Given the description of an element on the screen output the (x, y) to click on. 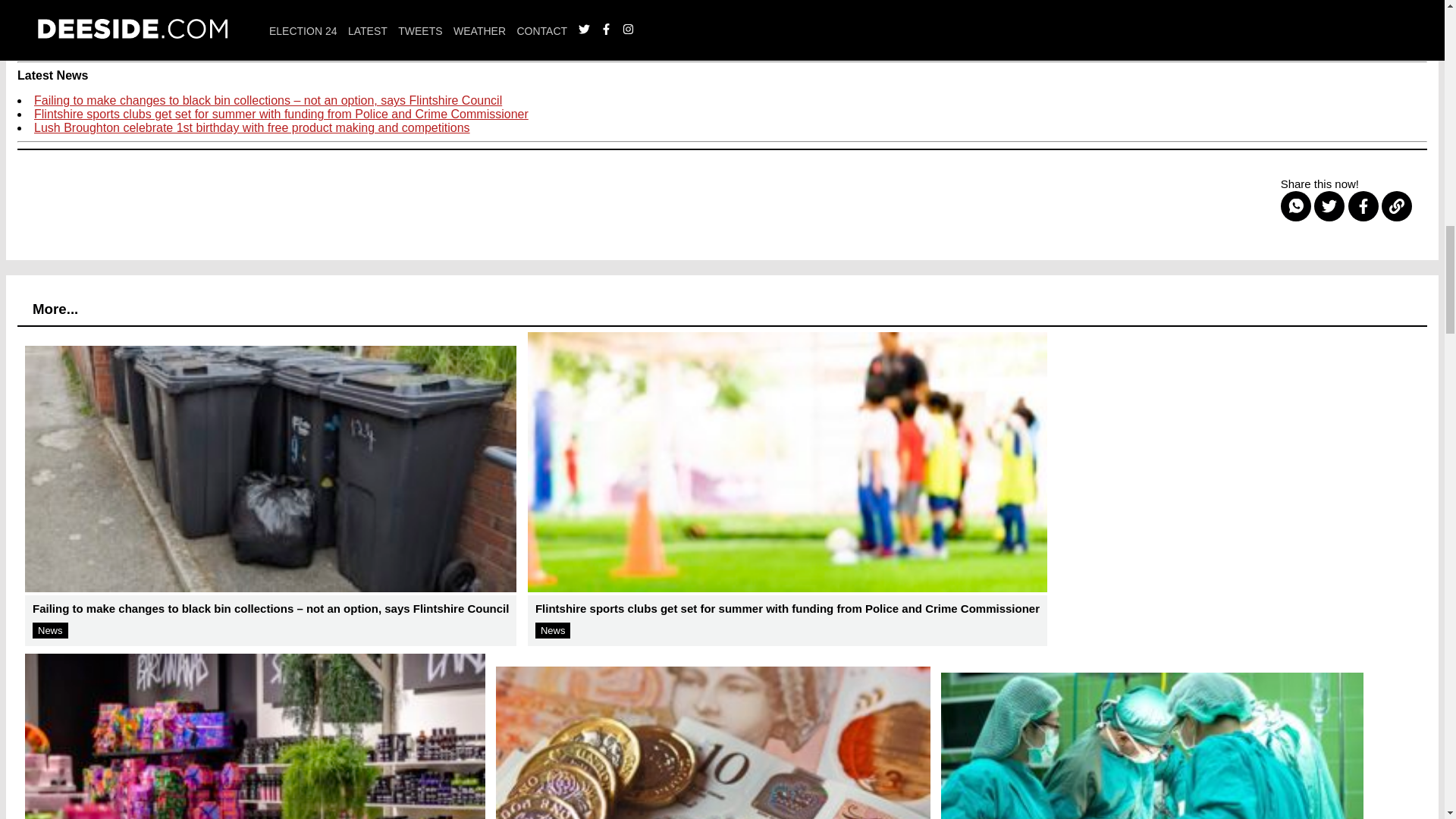
Send a Facebook Message (290, 47)
Twitter (518, 47)
